Given the description of an element on the screen output the (x, y) to click on. 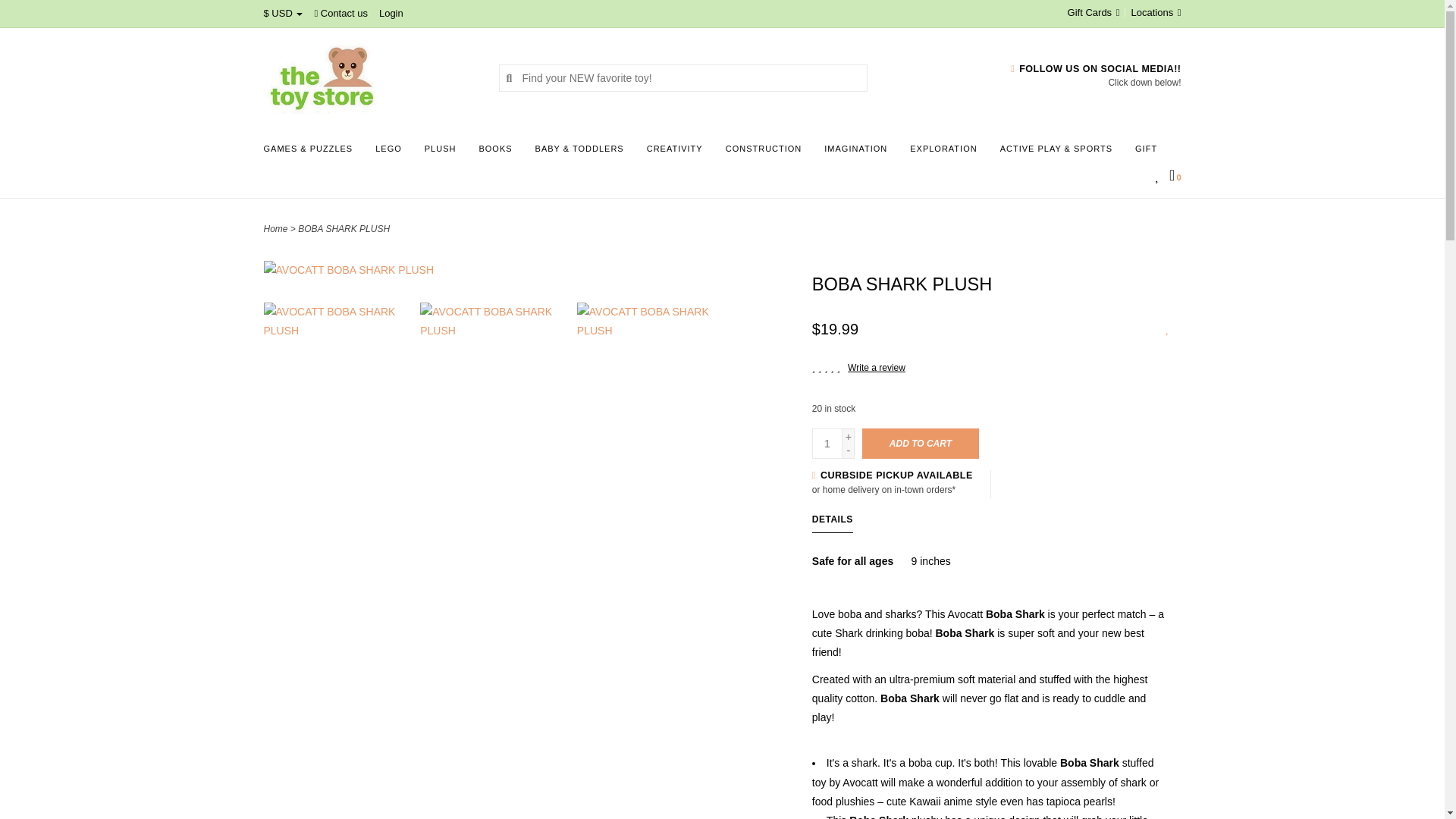
1 (827, 443)
THE TOY STORE (369, 77)
LEGO (392, 152)
My account (390, 12)
Locations (1152, 12)
Currency (282, 12)
Contact us (341, 12)
Login (390, 12)
